Given the description of an element on the screen output the (x, y) to click on. 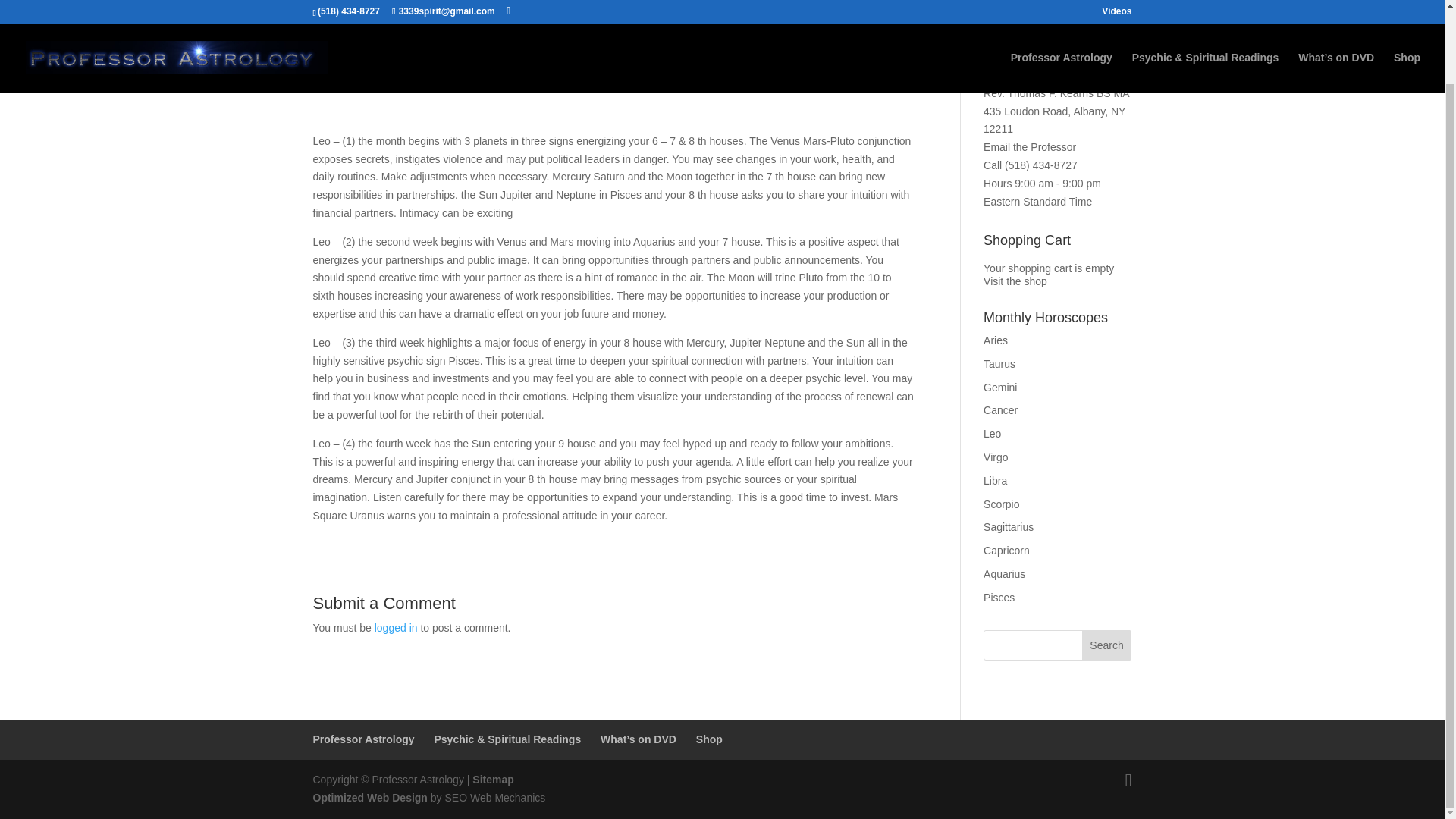
Capricorn (1006, 550)
Professor Astrology (1061, 4)
Virgo (995, 457)
Search (1106, 644)
Shop (708, 739)
Pisces (999, 597)
0 comments (583, 83)
Leo (992, 433)
Email the Professor (1029, 146)
Sitemap (492, 779)
Professor Astrology (363, 739)
Scorpio (1001, 503)
Visit Shop (1015, 281)
Sagittarius (1008, 526)
Optimized Web Design (369, 797)
